Given the description of an element on the screen output the (x, y) to click on. 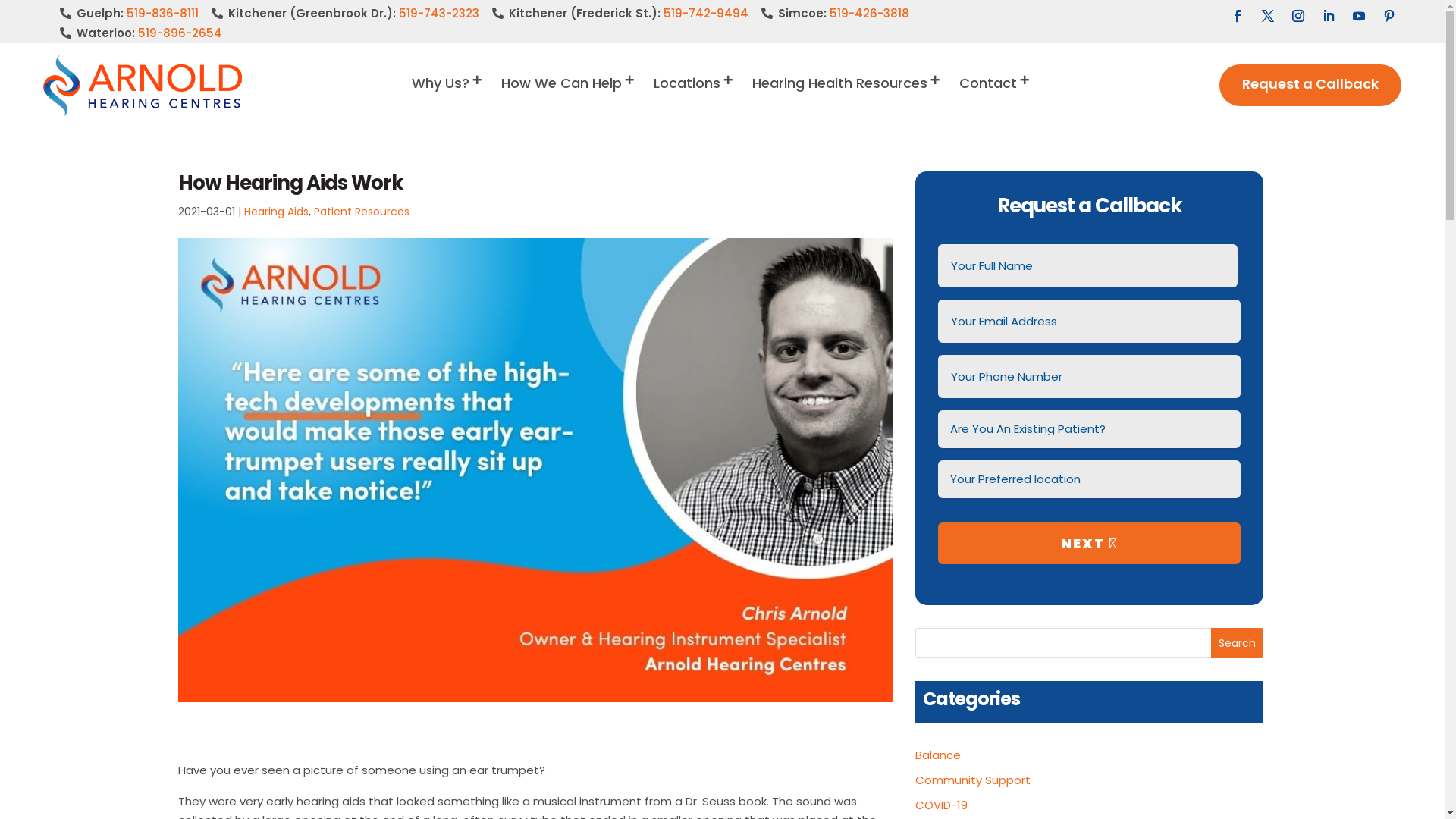
Follow on Youtube Element type: hover (1358, 15)
Request a Callback Element type: text (1310, 85)
Balance Element type: text (937, 754)
Hearing Health Resources Element type: text (847, 97)
Hearing Aids Element type: text (276, 211)
Follow on Pinterest Element type: hover (1389, 15)
Patient Resources Element type: text (361, 211)
How We Can Help Element type: text (569, 97)
519-426-3818 Element type: text (869, 13)
Follow on LinkedIn Element type: hover (1328, 15)
519-743-2323 Element type: text (438, 13)
Contact Element type: text (995, 97)
519-742-9494 Element type: text (705, 13)
Follow on Facebook Element type: hover (1237, 15)
519-896-2654 Element type: text (180, 32)
Locations Element type: text (694, 97)
arnold-hearing-logo-update Element type: hover (142, 84)
COVID-19 Element type: text (941, 804)
Follow on X Element type: hover (1267, 15)
519-836-8111 Element type: text (162, 13)
Search Element type: text (1237, 642)
Community Support Element type: text (972, 779)
Why Us? Element type: text (447, 97)
Follow on Instagram Element type: hover (1298, 15)
